Given the description of an element on the screen output the (x, y) to click on. 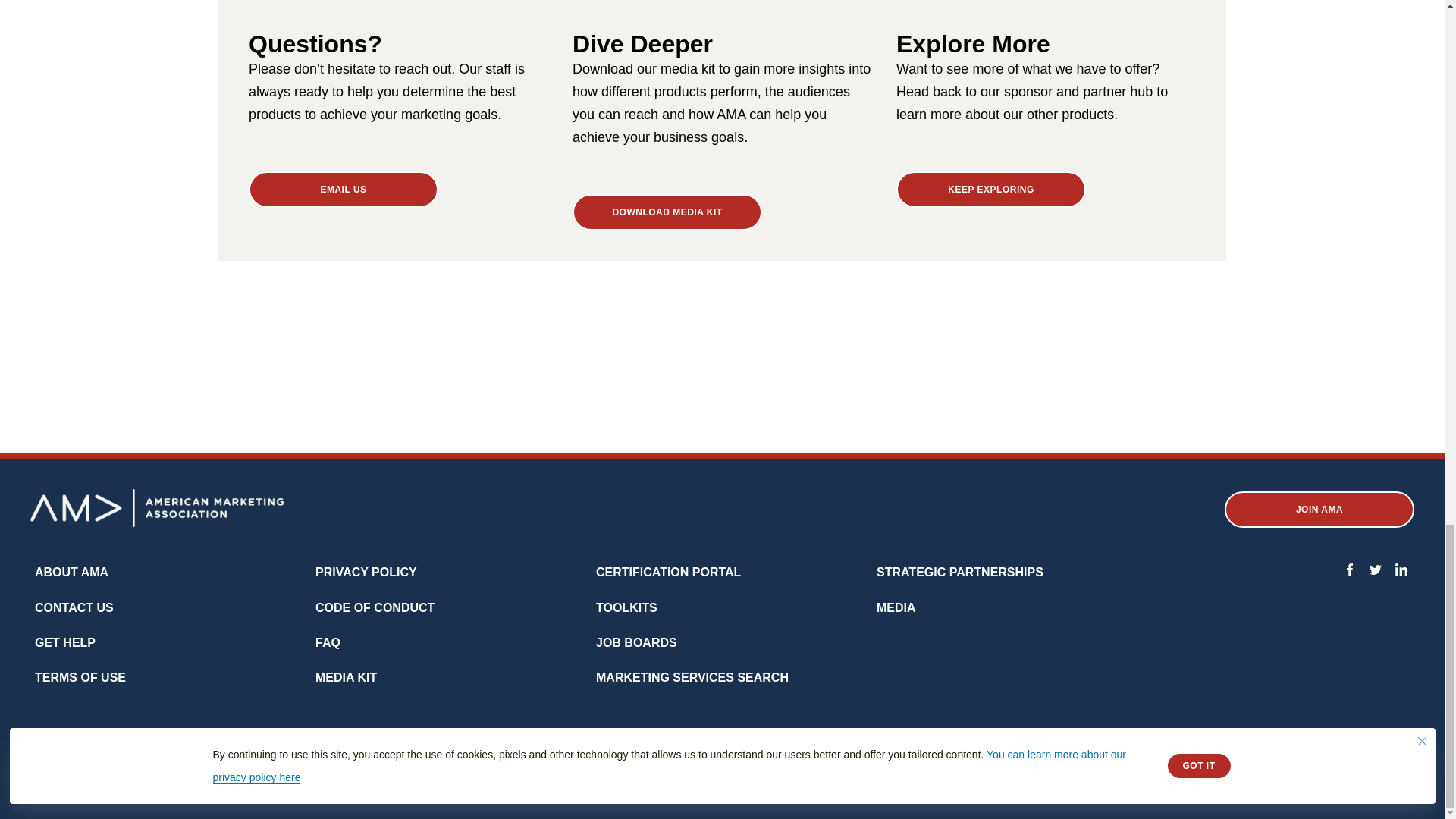
DOWNLOAD MEDIA KIT (666, 212)
EMAIL US (343, 189)
KEEP EXPLORING (991, 189)
JOIN AMA (1318, 509)
